Given the description of an element on the screen output the (x, y) to click on. 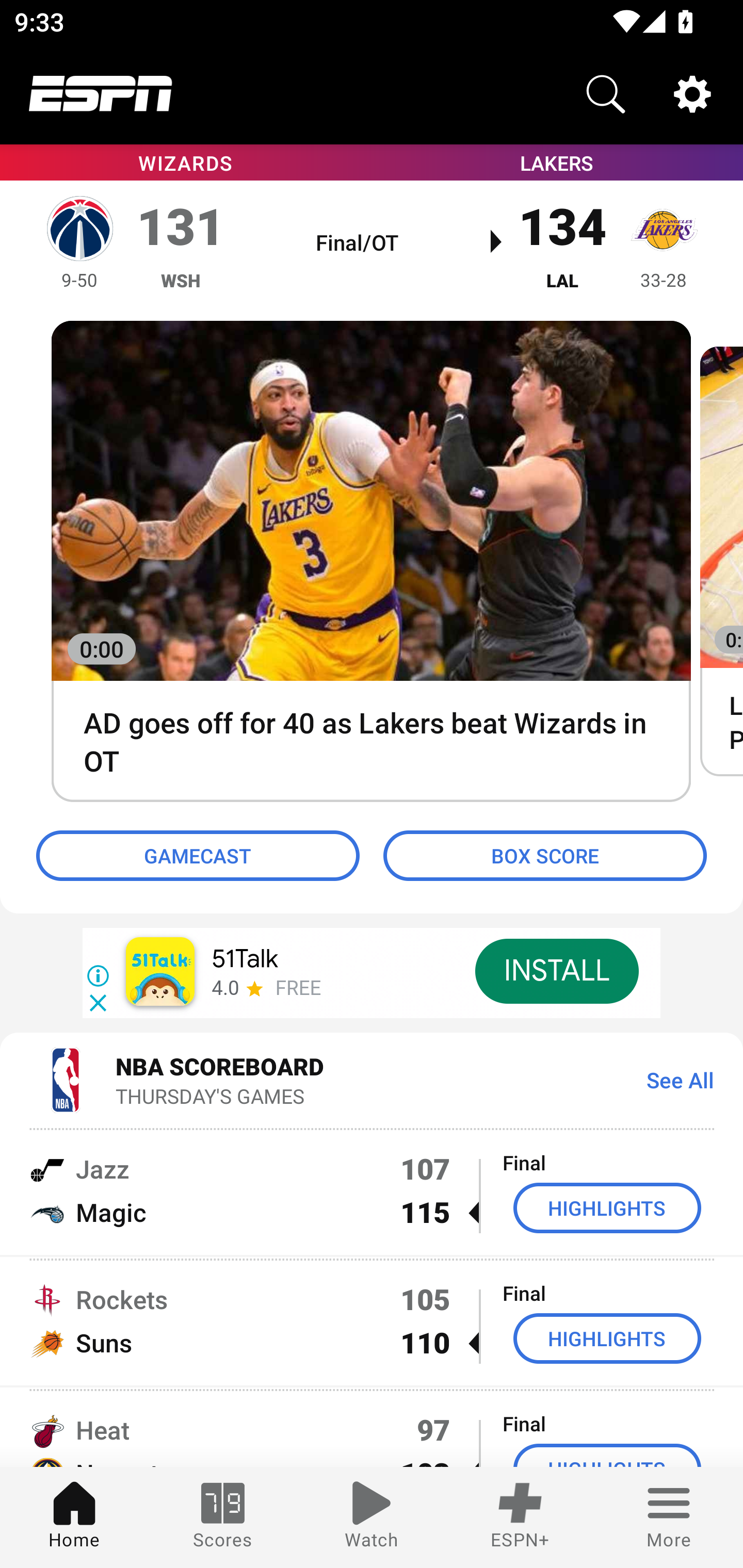
Search (605, 93)
Settings (692, 93)
GAMECAST (197, 856)
BOX SCORE (544, 856)
INSTALL (556, 971)
51Talk (244, 959)
NBA SCOREBOARD THURSDAY'S GAMES See All (371, 1079)
Jazz 107 Final Magic 115  HIGHLIGHTS (371, 1189)
HIGHLIGHTS (607, 1208)
Rockets 105 Final Suns 110  HIGHLIGHTS (371, 1321)
HIGHLIGHTS (607, 1338)
Heat 97 Final Nuggets 103  HIGHLIGHTS (371, 1427)
Scores (222, 1517)
Watch (371, 1517)
ESPN+ (519, 1517)
More (668, 1517)
